Given the description of an element on the screen output the (x, y) to click on. 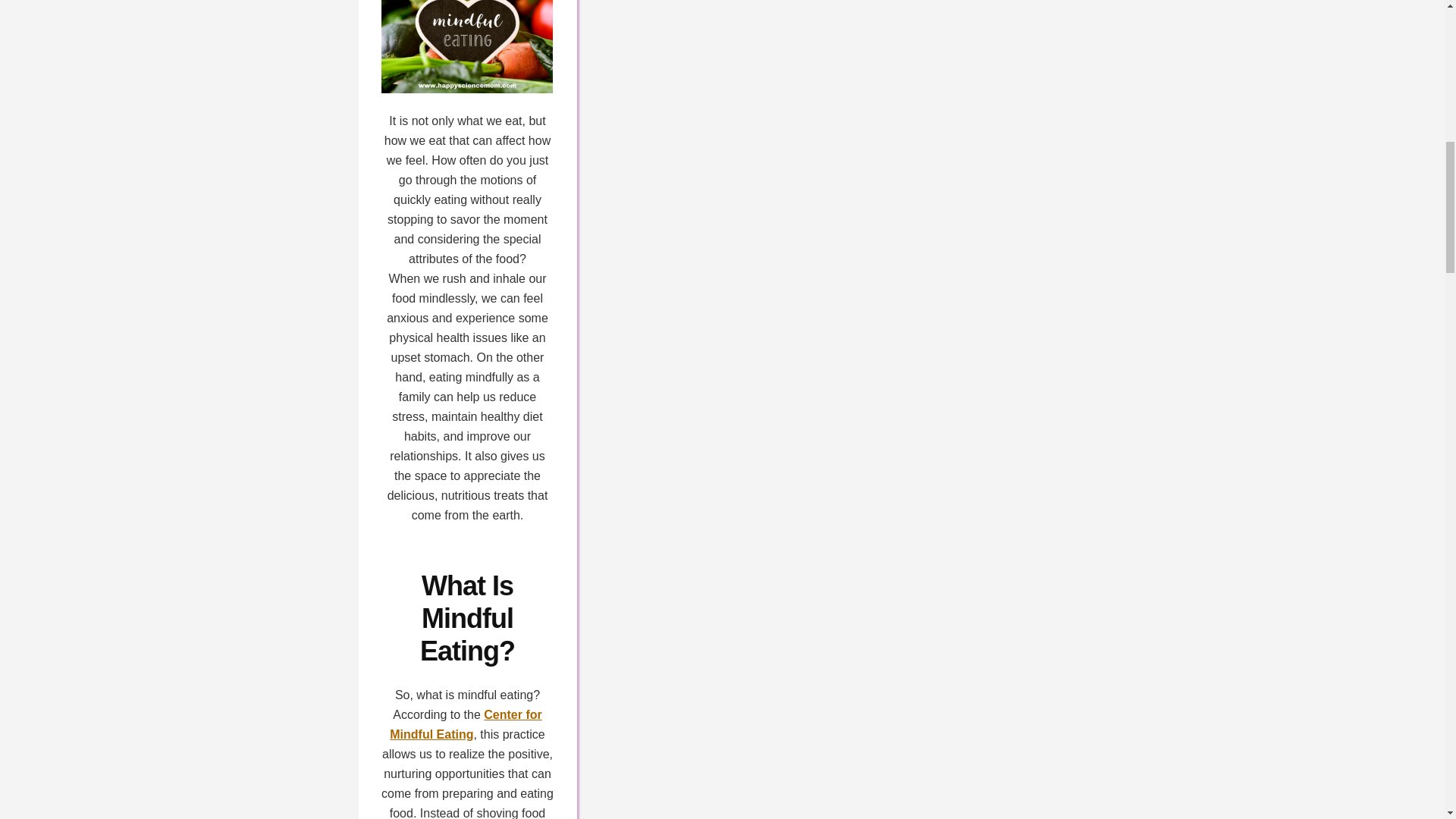
Center for Mindful Eating (465, 724)
Vegetables with mindful eating sign (465, 46)
